Given the description of an element on the screen output the (x, y) to click on. 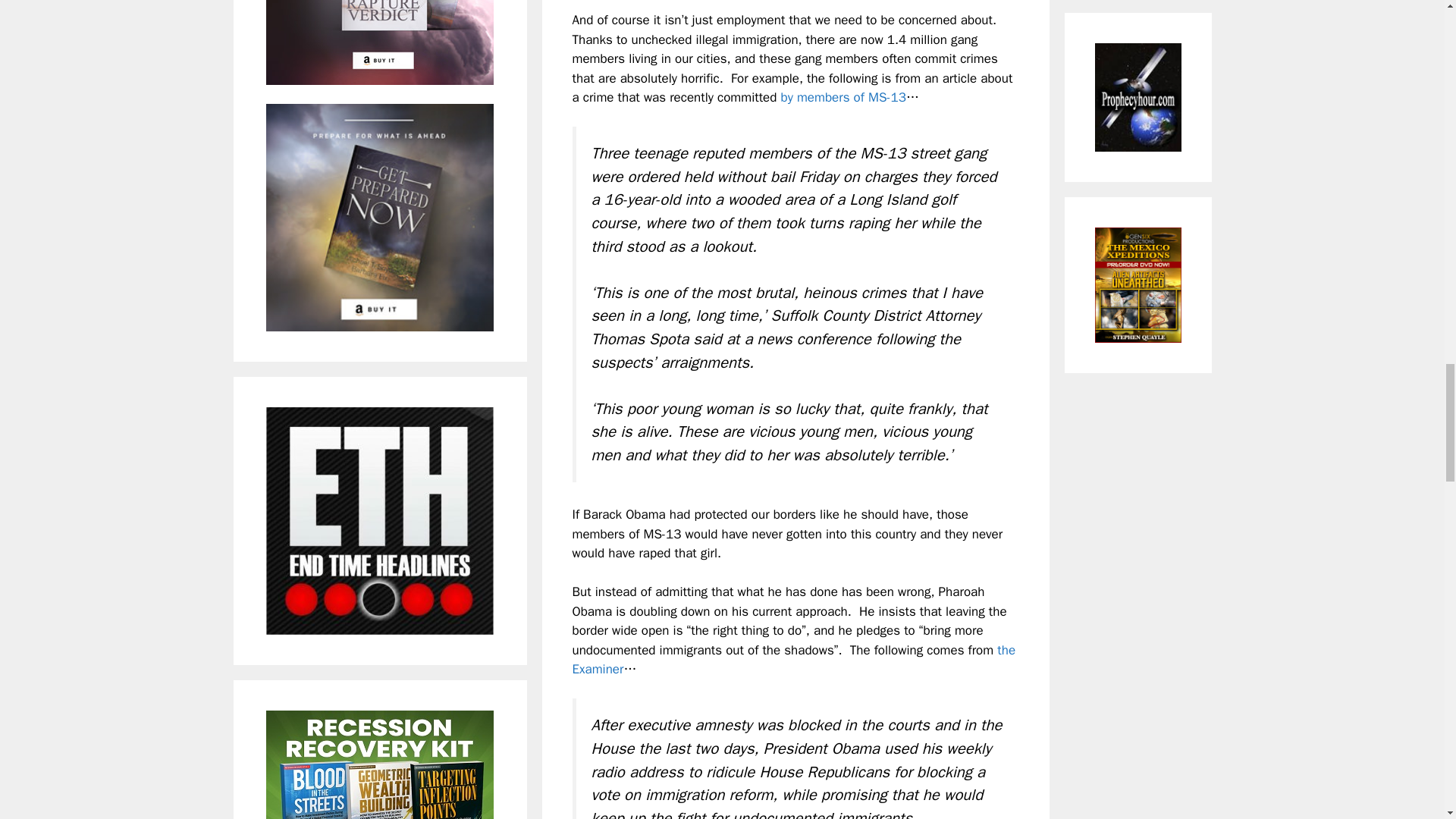
by members of MS-13 (842, 97)
by members of MS-13 (842, 97)
the Examiner (793, 660)
